Given the description of an element on the screen output the (x, y) to click on. 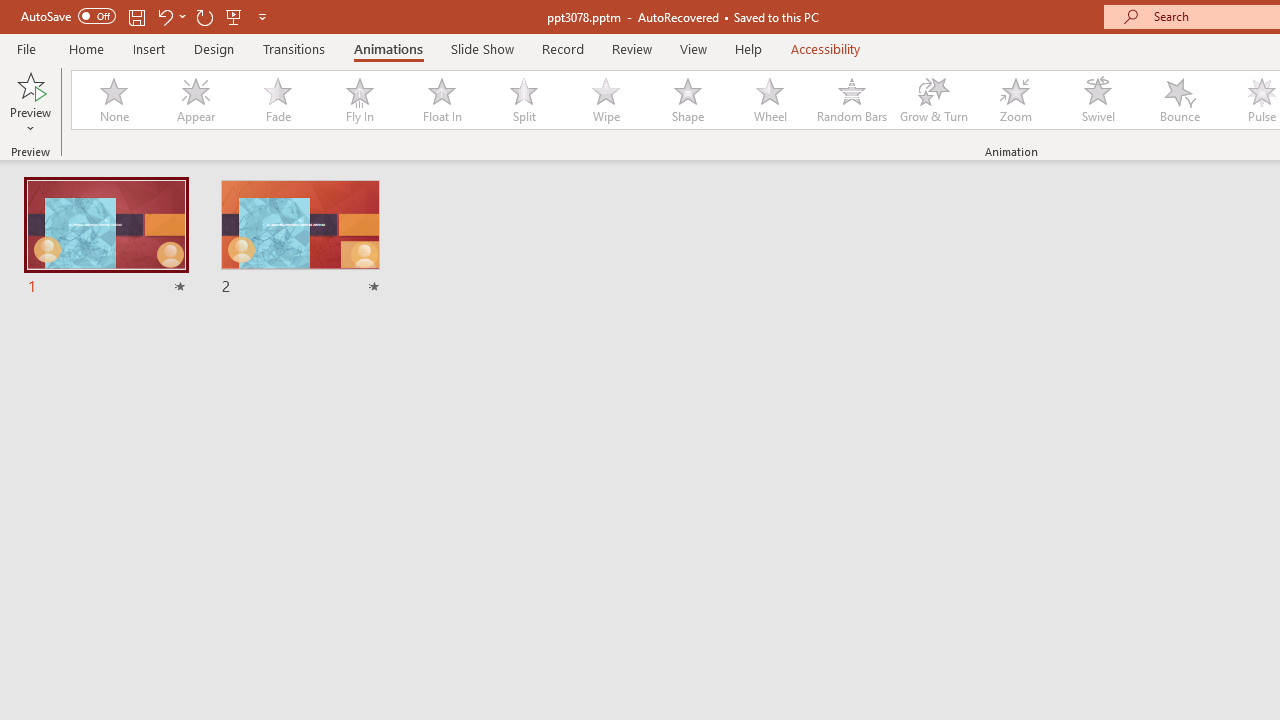
Appear (195, 100)
Swivel (1098, 100)
Float In (441, 100)
Random Bars (852, 100)
